Given the description of an element on the screen output the (x, y) to click on. 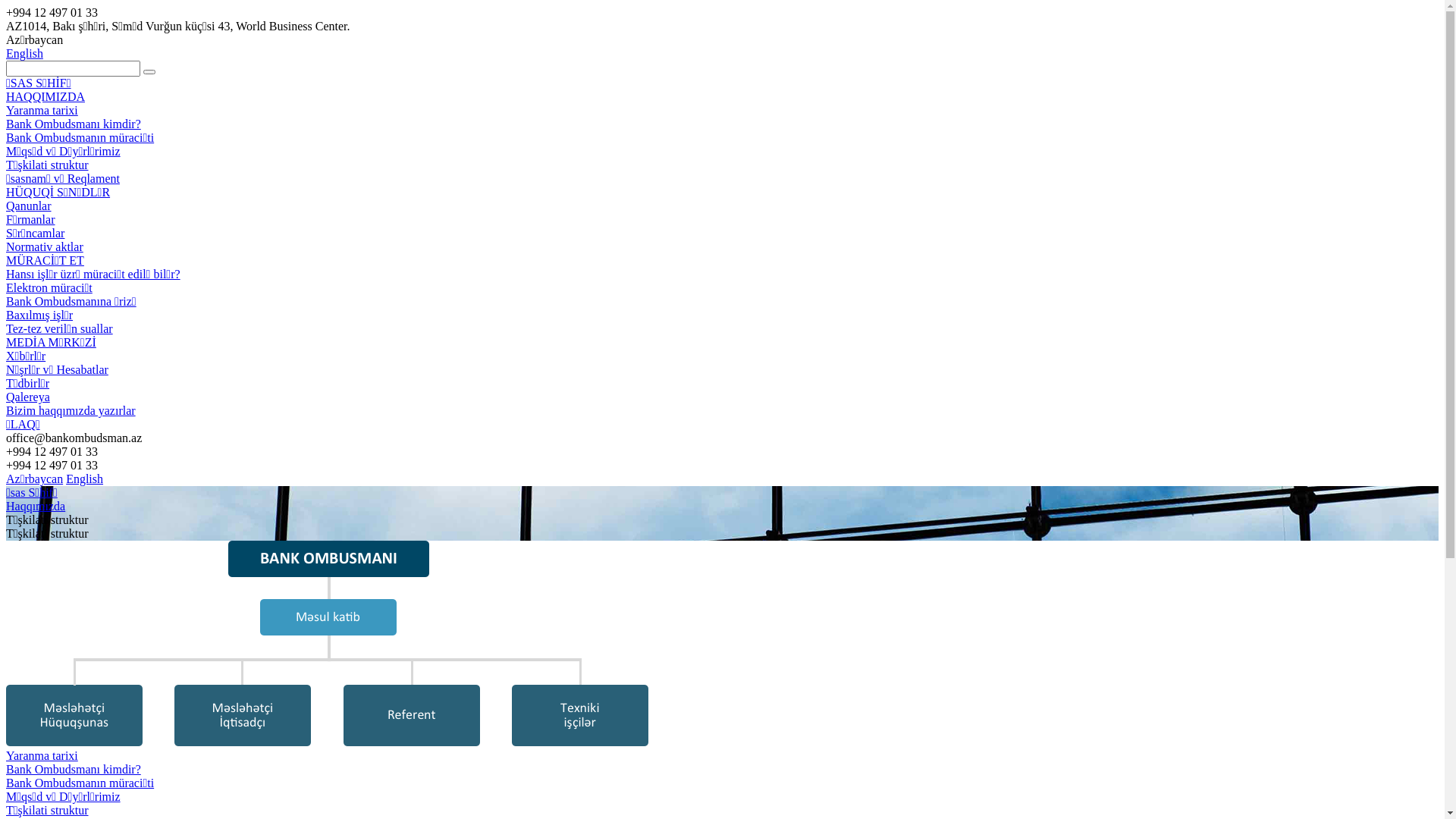
Qanunlar Element type: text (28, 205)
Yaranma tarixi Element type: text (42, 755)
English Element type: text (24, 53)
Qalereya Element type: text (28, 396)
English Element type: text (84, 478)
Normativ aktlar Element type: text (44, 246)
Yaranma tarixi Element type: text (42, 109)
HAQQIMIZDA Element type: text (45, 96)
